Given the description of an element on the screen output the (x, y) to click on. 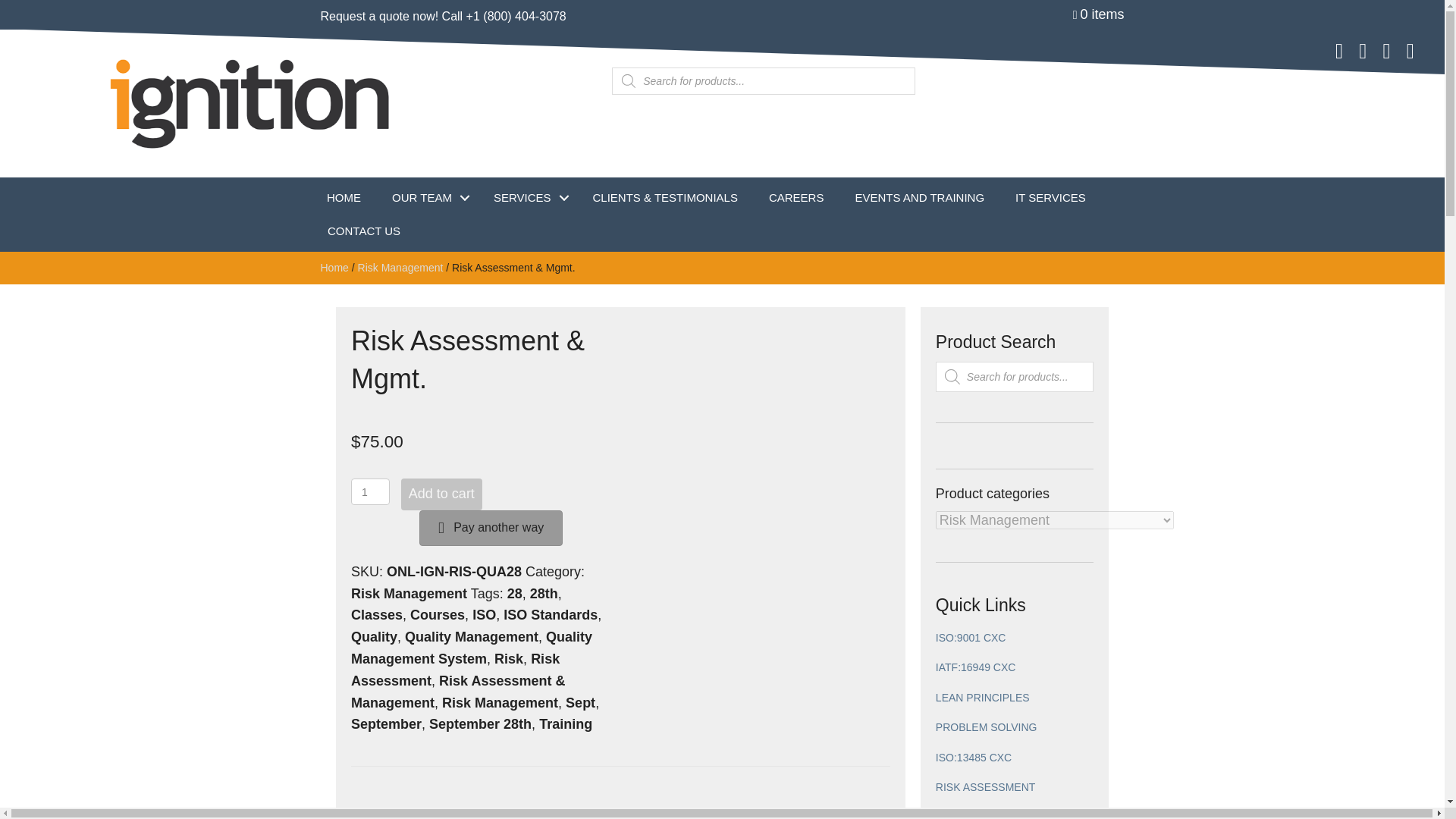
Courses (437, 614)
Risk (508, 658)
28 (514, 593)
CAREERS (797, 197)
Quality (373, 636)
Untitled-7 (250, 103)
CONTACT US (363, 231)
Classes (376, 614)
Risk Management (408, 593)
HOME (343, 197)
